Given the description of an element on the screen output the (x, y) to click on. 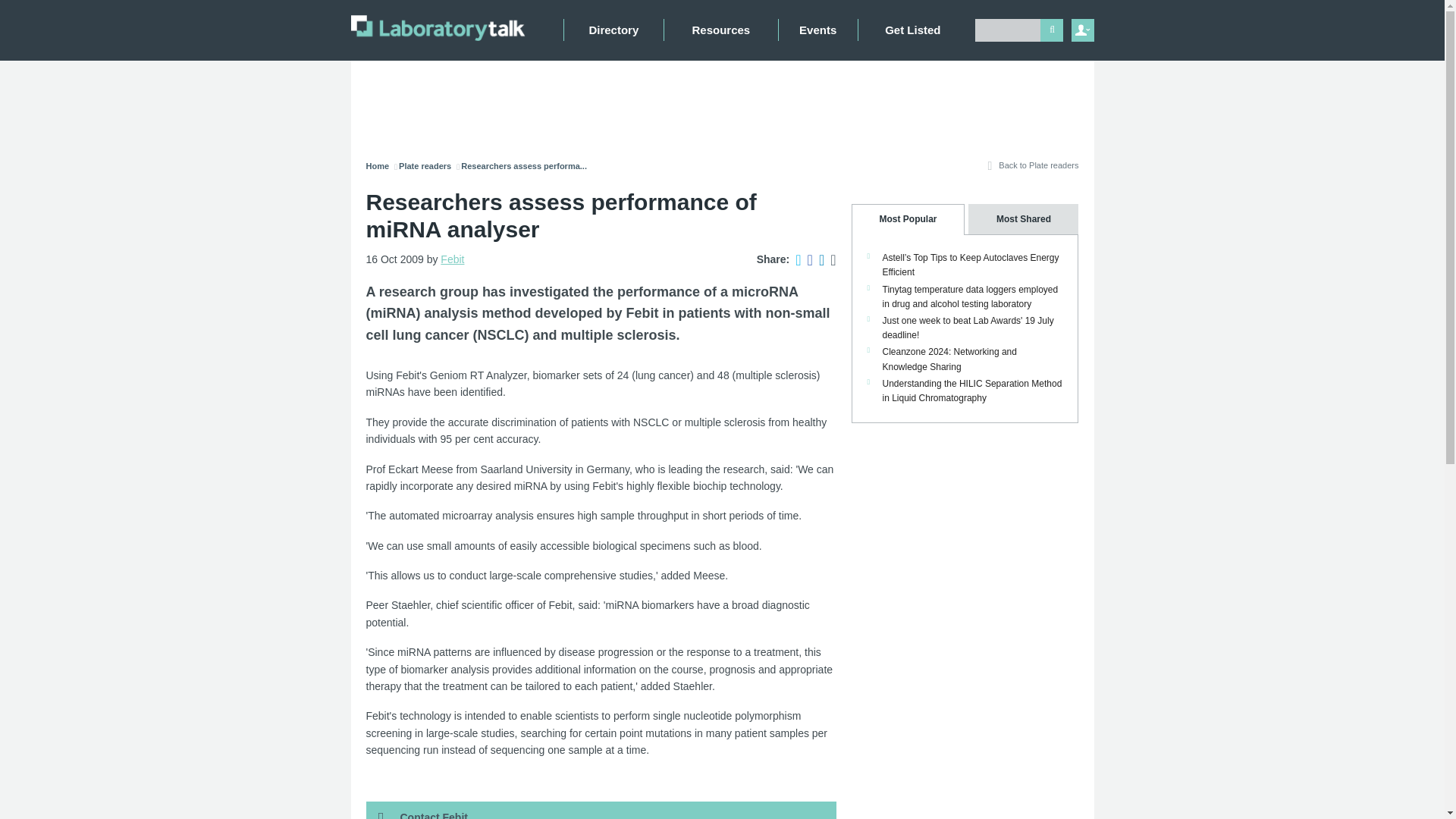
Just one week to beat Lab Awards' 19 July deadline! (968, 327)
Plate readers (424, 165)
Cleanzone 2024: Networking and Knowledge Sharing (949, 358)
Share via Email (829, 259)
Share on Facebook (807, 259)
Febit (452, 259)
Home (376, 165)
Directory (612, 29)
Events (817, 29)
Share on LinkedIn (818, 259)
Share on Twitter (794, 259)
Back to Plate readers (1030, 170)
Most Shared (1020, 218)
3rd party ad content (725, 101)
